Given the description of an element on the screen output the (x, y) to click on. 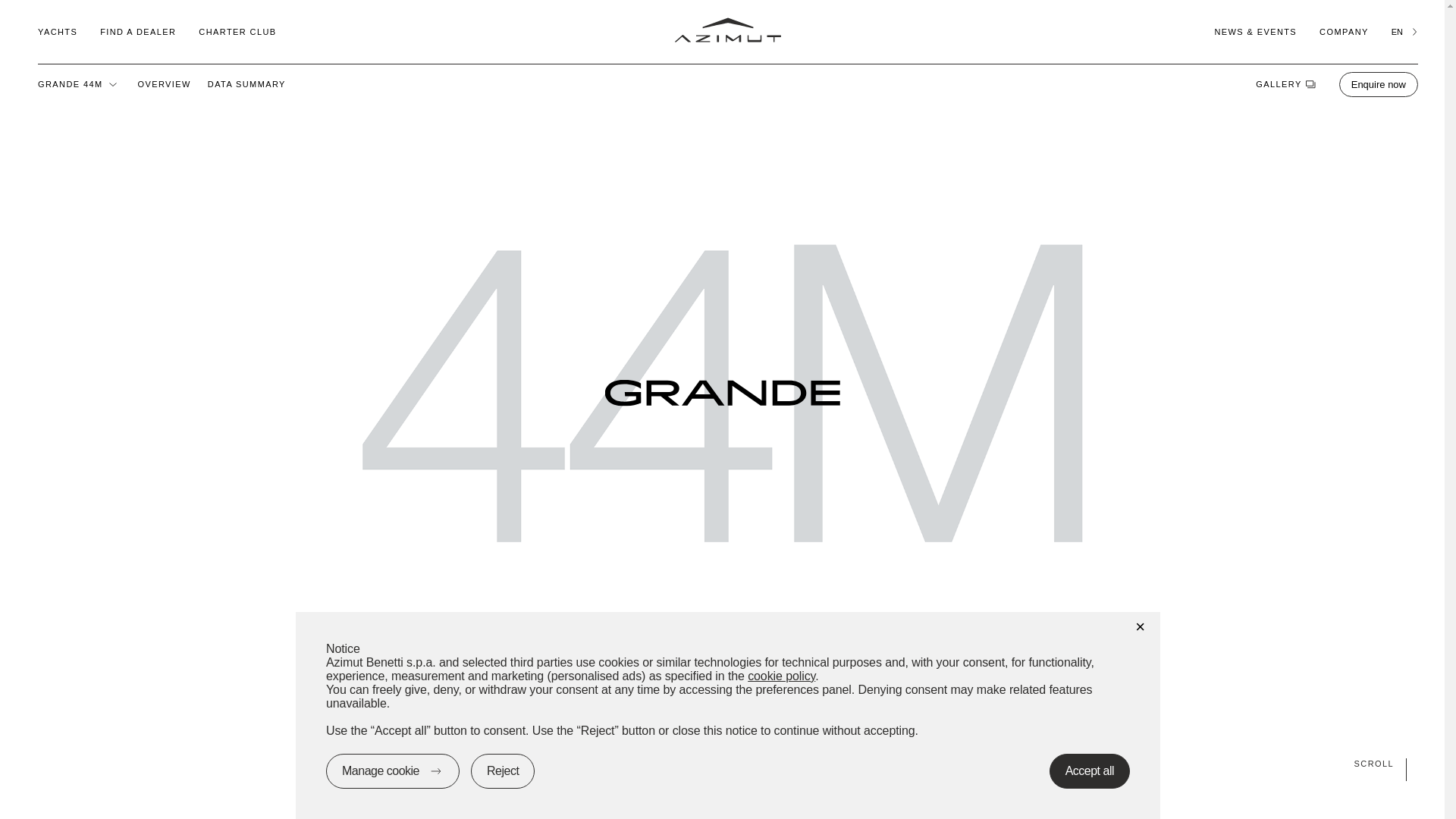
DATA SUMMARY (246, 83)
YACHTS (57, 31)
SCROLL (722, 763)
CHARTER CLUB (237, 31)
FIND A DEALER (138, 31)
EN (1404, 31)
COMPANY (1343, 31)
OVERVIEW (164, 83)
Enquire now (1378, 83)
